Given the description of an element on the screen output the (x, y) to click on. 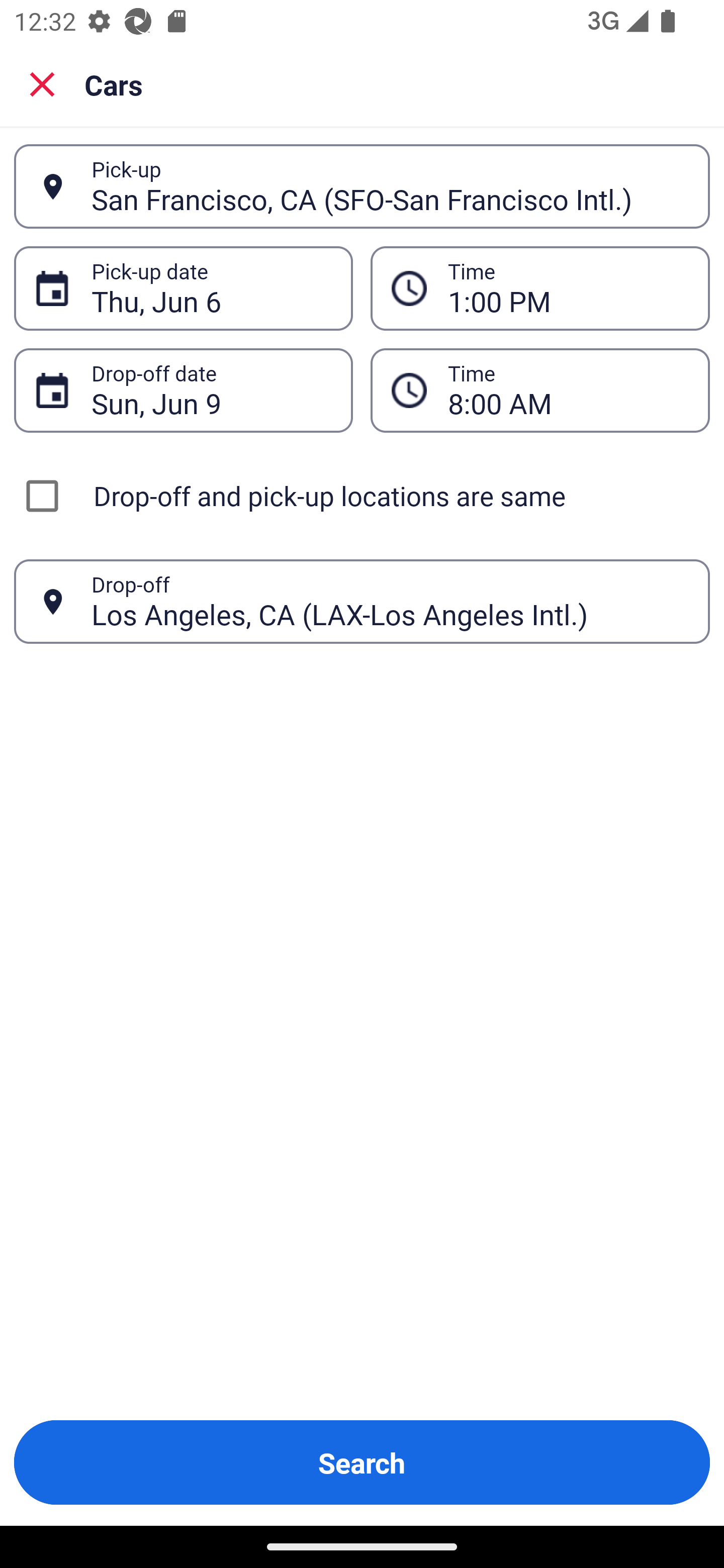
Close search screen (42, 84)
San Francisco, CA (SFO-San Francisco Intl.) (389, 186)
Thu, Jun 6 (211, 288)
1:00 PM (568, 288)
Sun, Jun 9 (211, 390)
8:00 AM (568, 390)
Drop-off and pick-up locations are same (361, 495)
Los Angeles, CA (LAX-Los Angeles Intl.) (389, 601)
Search Button Search (361, 1462)
